Given the description of an element on the screen output the (x, y) to click on. 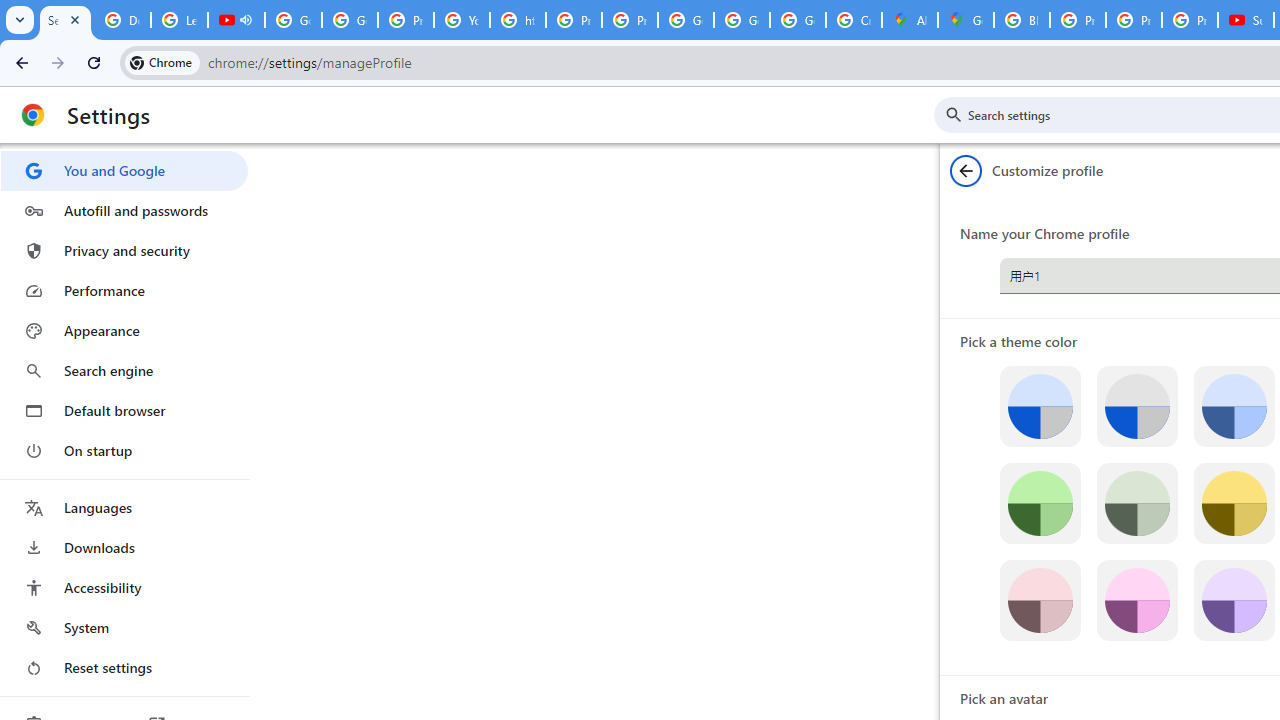
Settings - Customize profile (65, 20)
Privacy Help Center - Policies Help (1077, 20)
Learn how to find your photos - Google Photos Help (179, 20)
Privacy Help Center - Policies Help (405, 20)
Default browser (124, 410)
You and Google (124, 170)
